Given the description of an element on the screen output the (x, y) to click on. 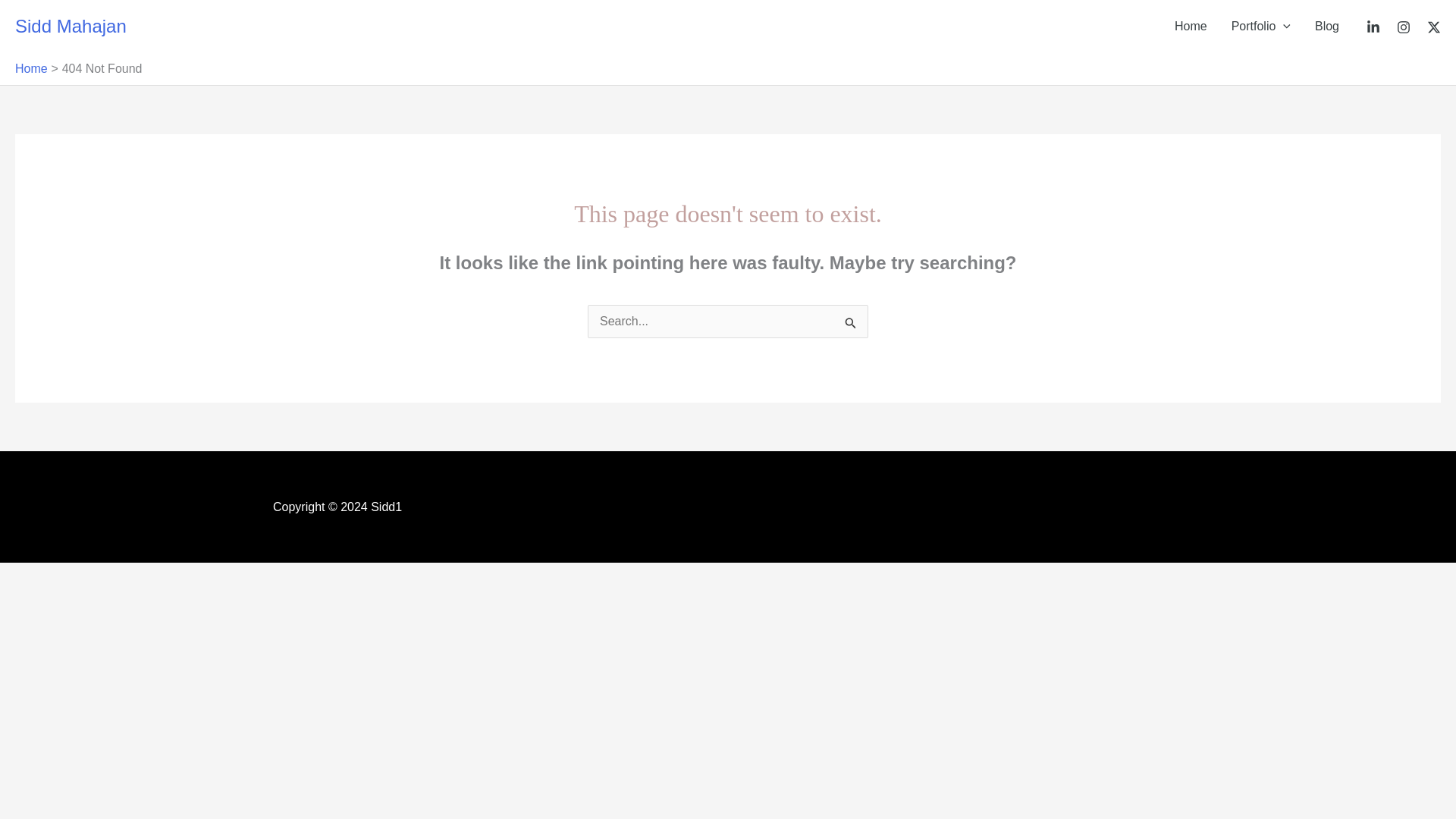
Portfolio (1261, 26)
Sidd Mahajan (70, 28)
Home (31, 68)
Home (1190, 26)
Blog (1327, 26)
